Given the description of an element on the screen output the (x, y) to click on. 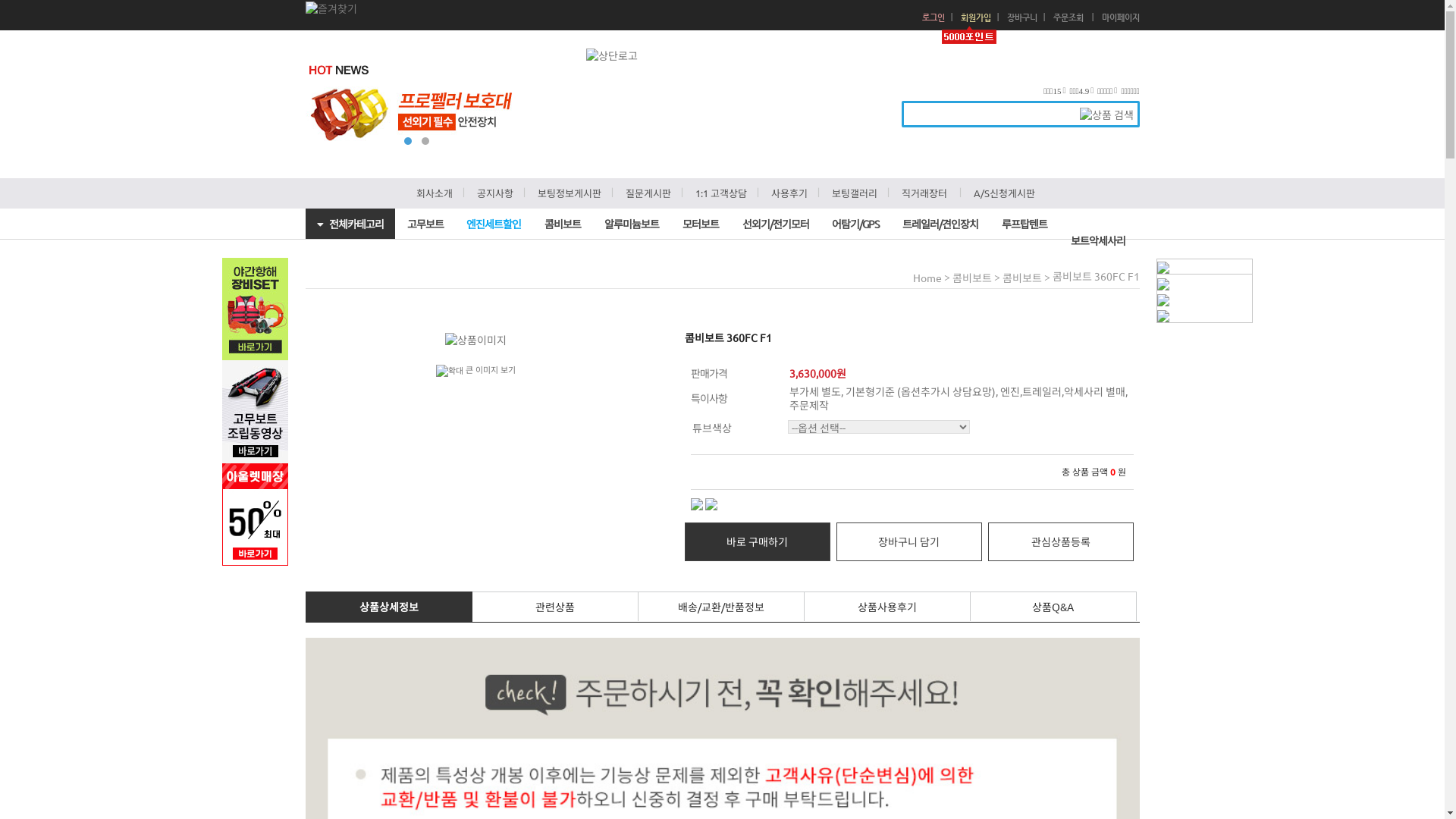
Home Element type: text (927, 277)
